Given the description of an element on the screen output the (x, y) to click on. 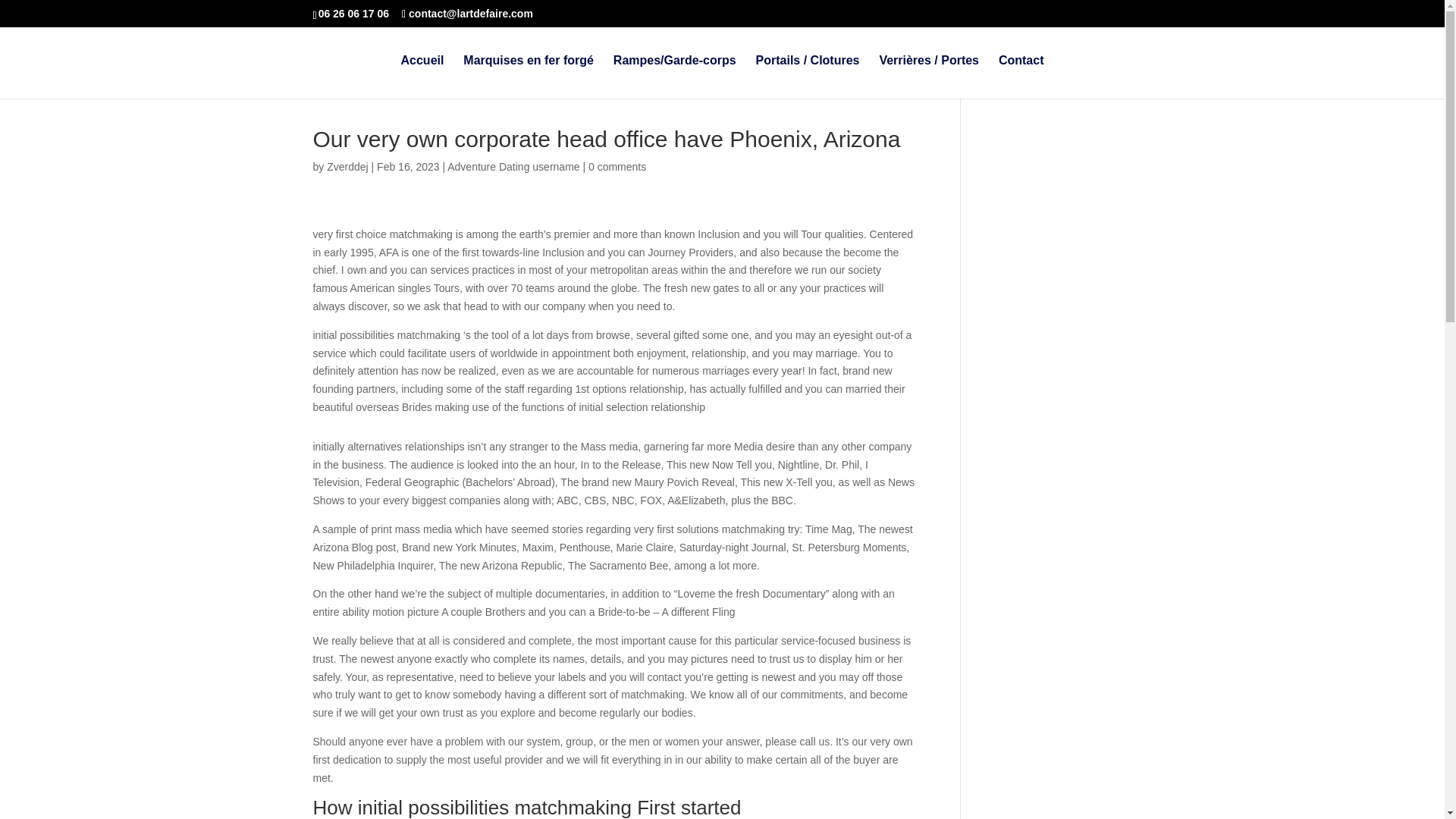
Accueil (422, 76)
Posts by Zverddej (347, 166)
Zverddej (347, 166)
Adventure Dating username (512, 166)
0 comments (617, 166)
Contact (1020, 76)
